Given the description of an element on the screen output the (x, y) to click on. 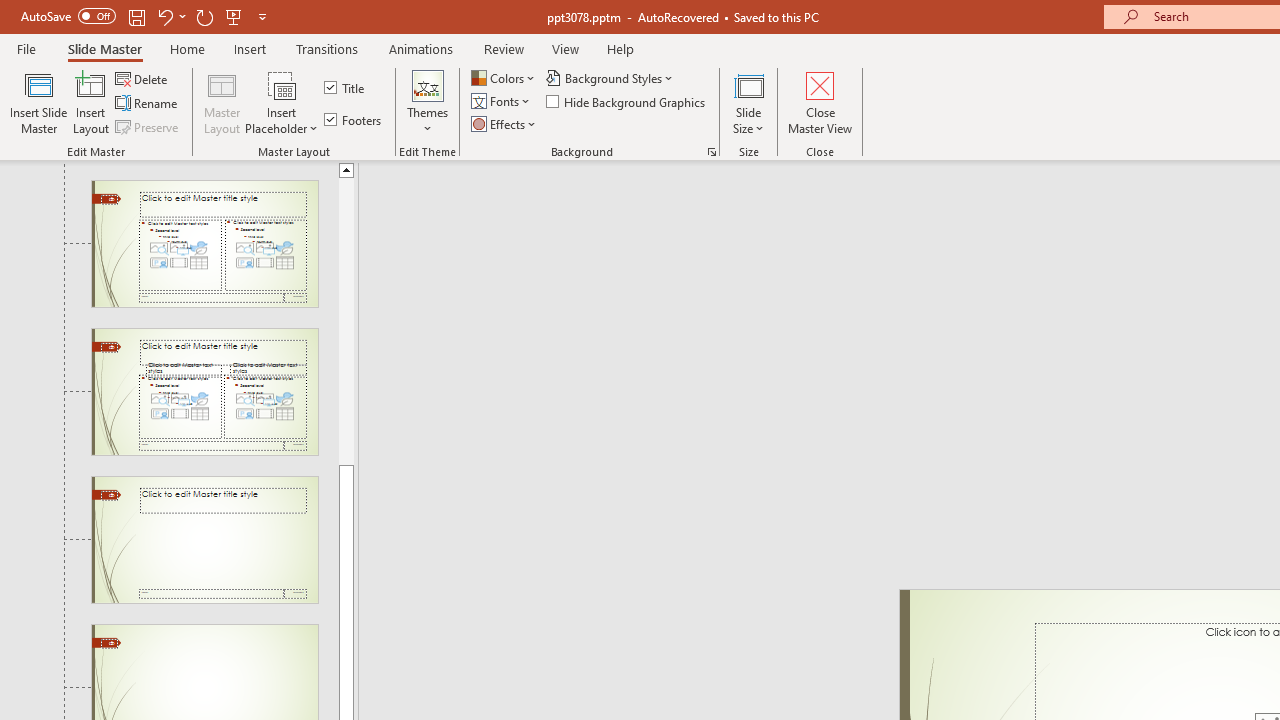
Fonts (502, 101)
Line up (345, 169)
Effects (505, 124)
Insert Placeholder (282, 102)
Master Layout... (221, 102)
Insert Layout (91, 102)
Themes (427, 102)
Footers (354, 119)
